Given the description of an element on the screen output the (x, y) to click on. 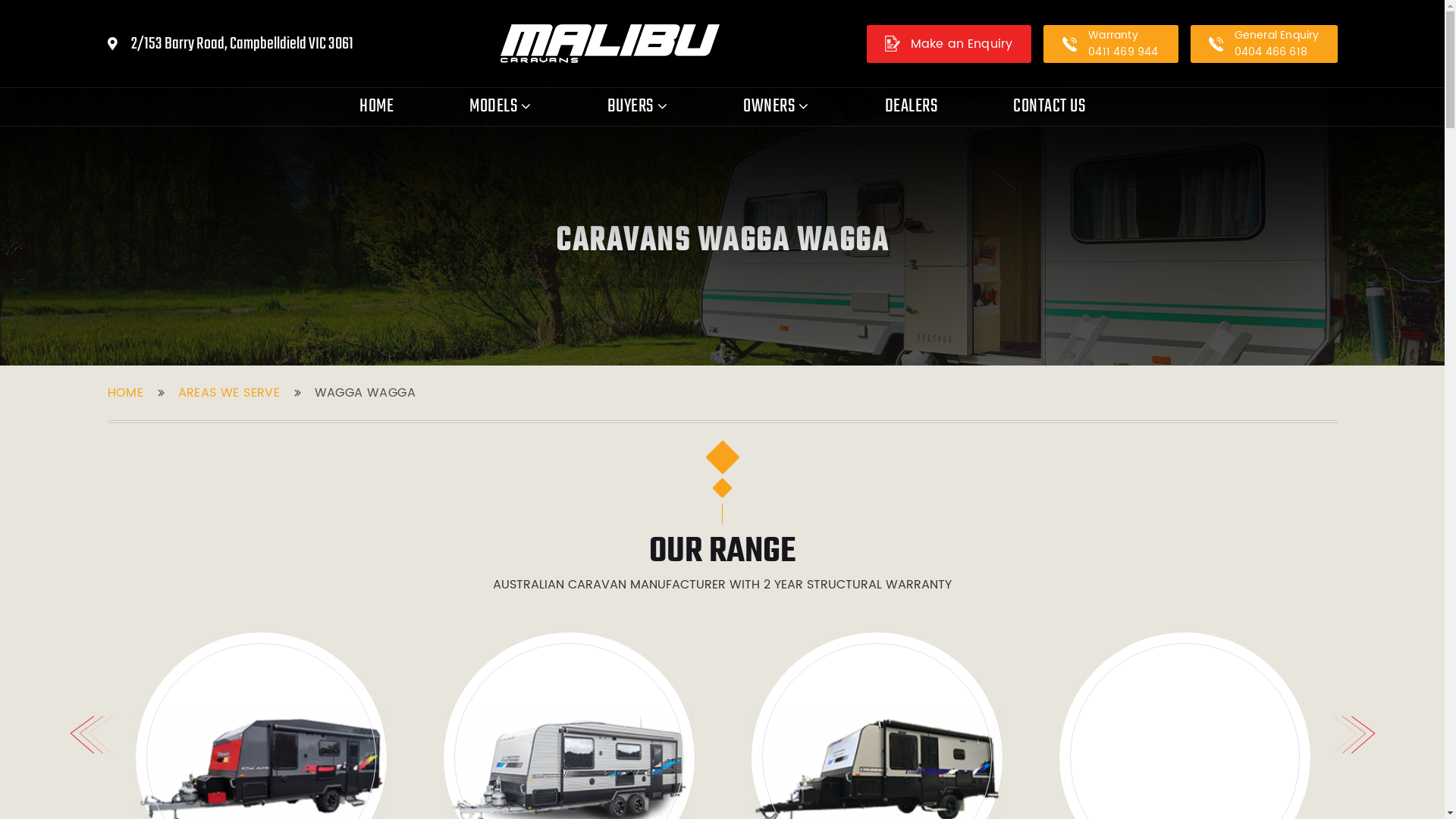
MODELS Element type: text (500, 106)
Make an Enquiry Element type: text (948, 43)
HOME Element type: text (125, 392)
Warranty
0411 469 944 Element type: text (1110, 43)
Prev Element type: text (90, 734)
CONTACT US Element type: text (1049, 106)
DEALERS Element type: text (910, 106)
OWNERS Element type: text (776, 106)
General Enquiry
0404 466 618 Element type: text (1263, 43)
Next Element type: text (1354, 734)
AREAS WE SERVE Element type: text (229, 392)
HOME Element type: text (376, 106)
BUYERS Element type: text (636, 106)
